Given the description of an element on the screen output the (x, y) to click on. 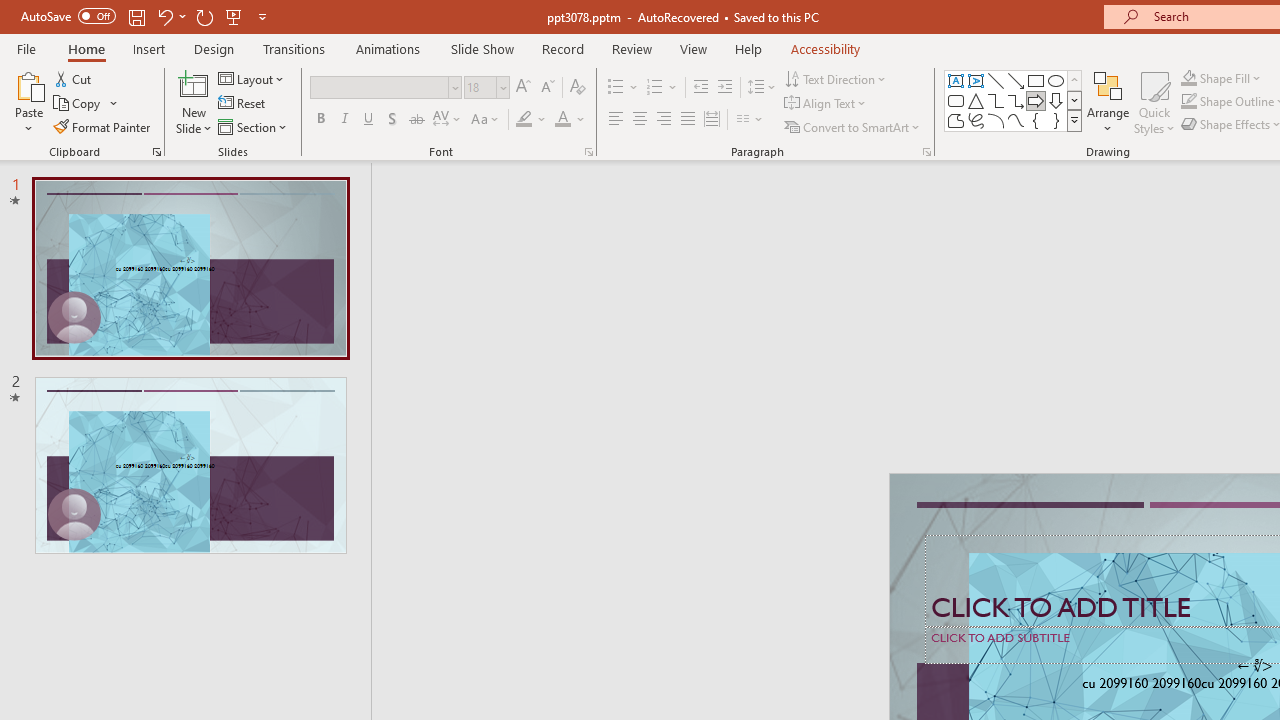
Character Spacing (447, 119)
Format Painter (103, 126)
Align Left (616, 119)
Text Highlight Color Yellow (524, 119)
Decrease Font Size (547, 87)
Font... (588, 151)
